Given the description of an element on the screen output the (x, y) to click on. 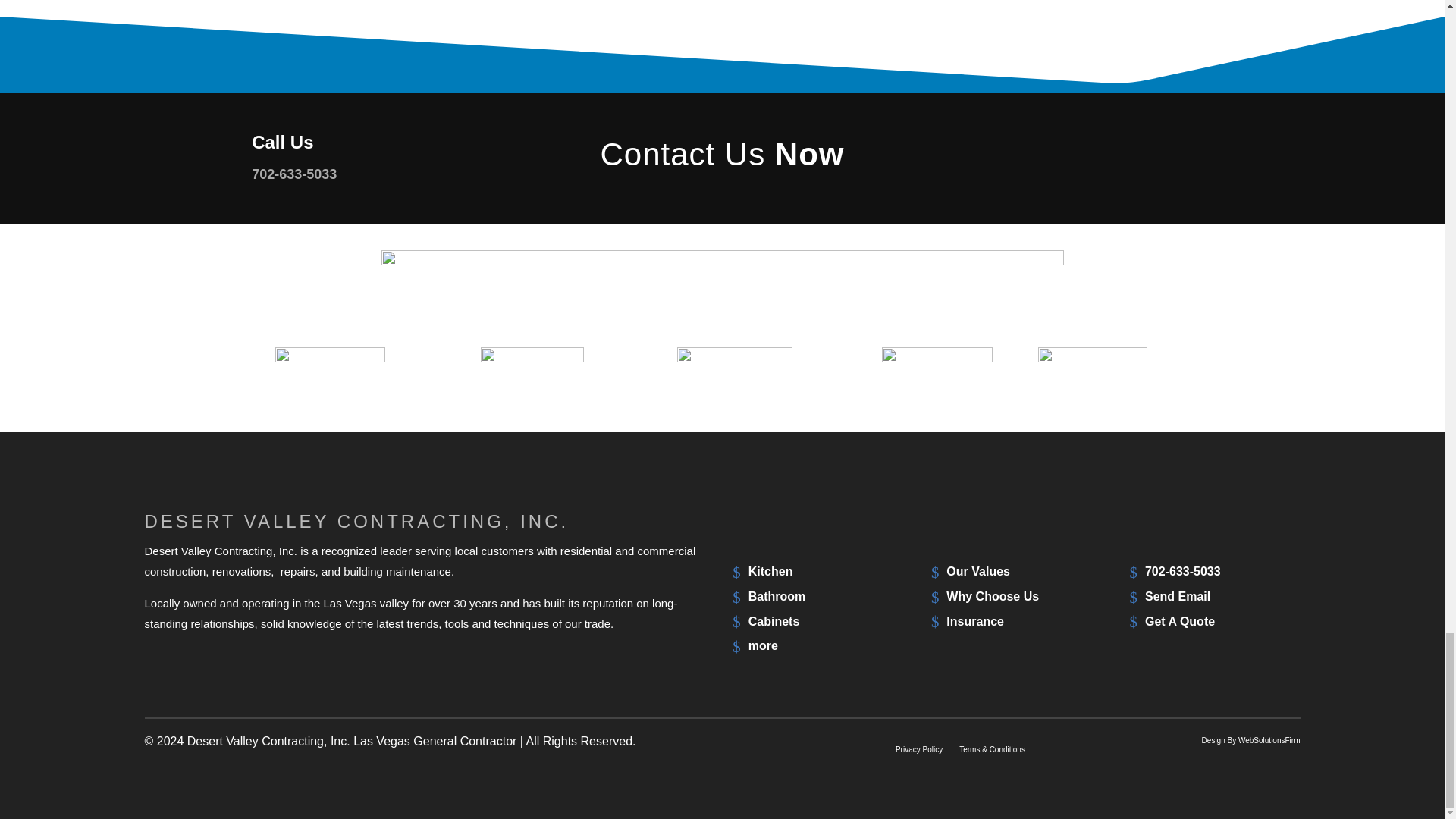
zillow-reviews (937, 374)
yelp-reviews (531, 374)
bbb (734, 376)
google-reviews (330, 373)
BOTTOMLOGOS (721, 285)
facebook-reviews (1092, 376)
